Given the description of an element on the screen output the (x, y) to click on. 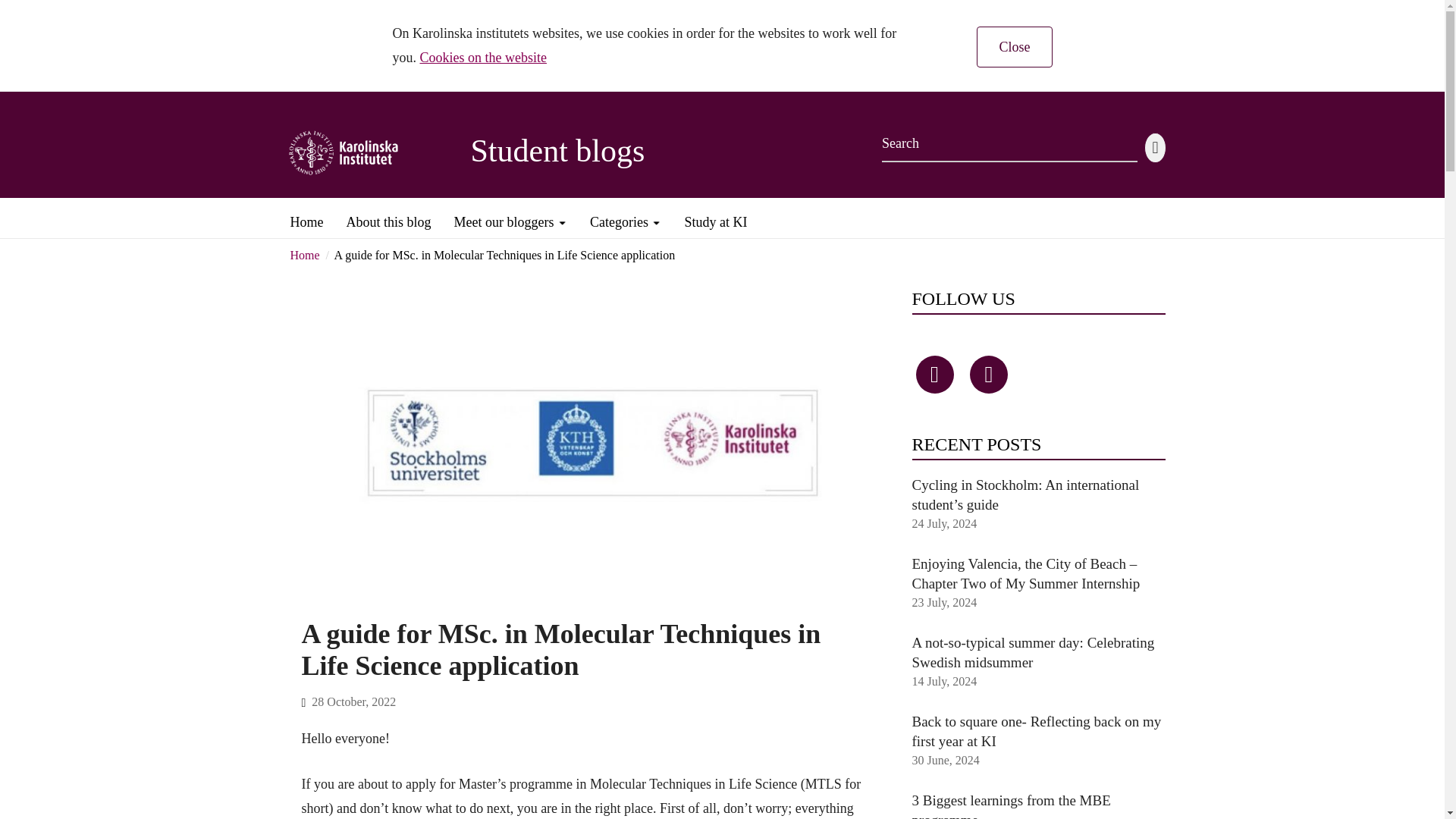
Meet our bloggers (510, 216)
Close (1013, 46)
Accept cookies (1013, 46)
Home (303, 254)
Cookies on the website (483, 57)
Study at KI (715, 216)
Categories (625, 216)
About this blog (388, 216)
